Given the description of an element on the screen output the (x, y) to click on. 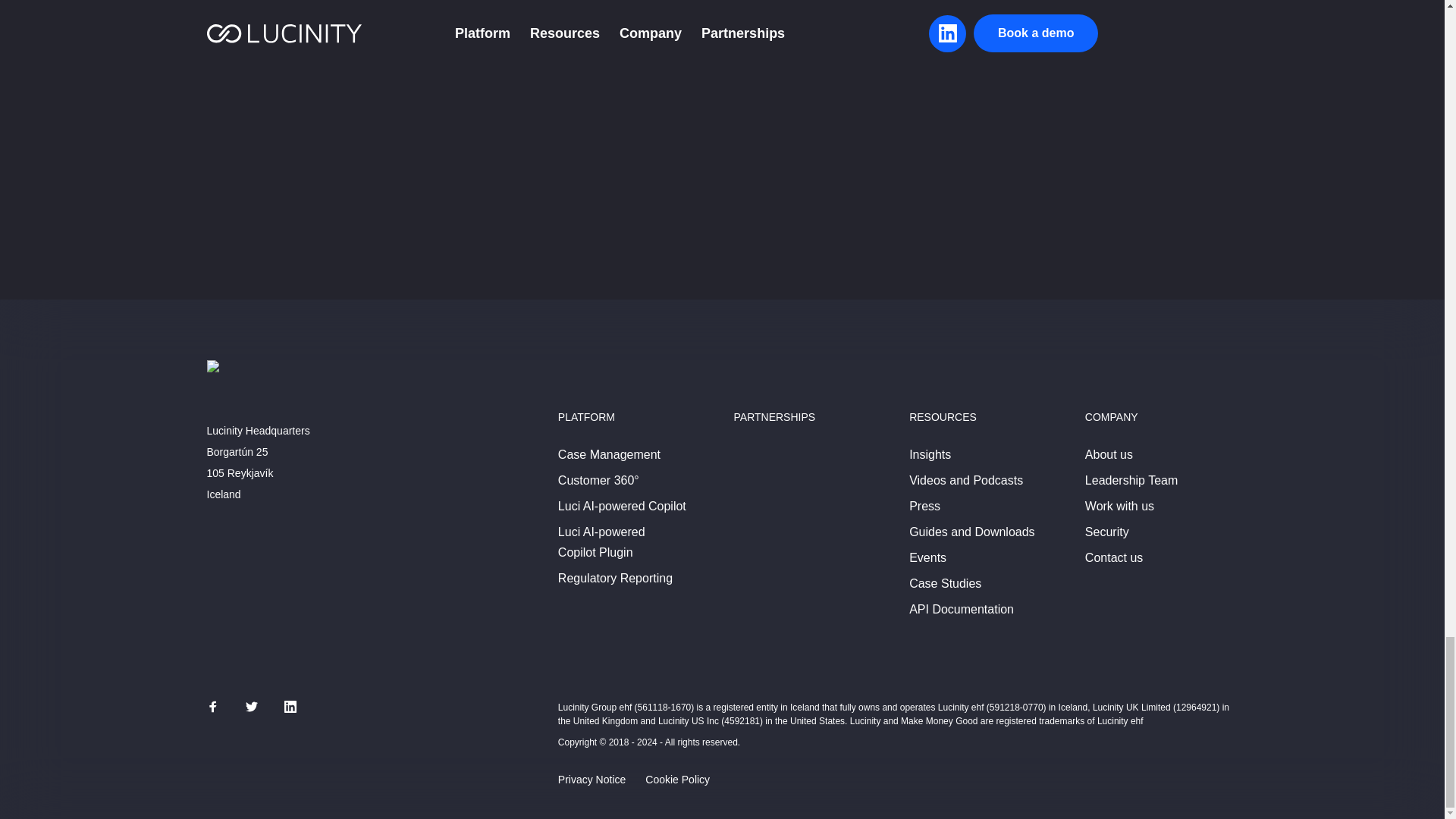
Regulatory Reporting (614, 578)
Case Studies (944, 583)
Guides and Downloads (970, 531)
Case Management (609, 454)
Events (927, 558)
API Documentation (960, 609)
Luci AI-powered Copilot (621, 506)
Insights (929, 454)
Videos and Podcasts (965, 480)
About us (1108, 454)
